Given the description of an element on the screen output the (x, y) to click on. 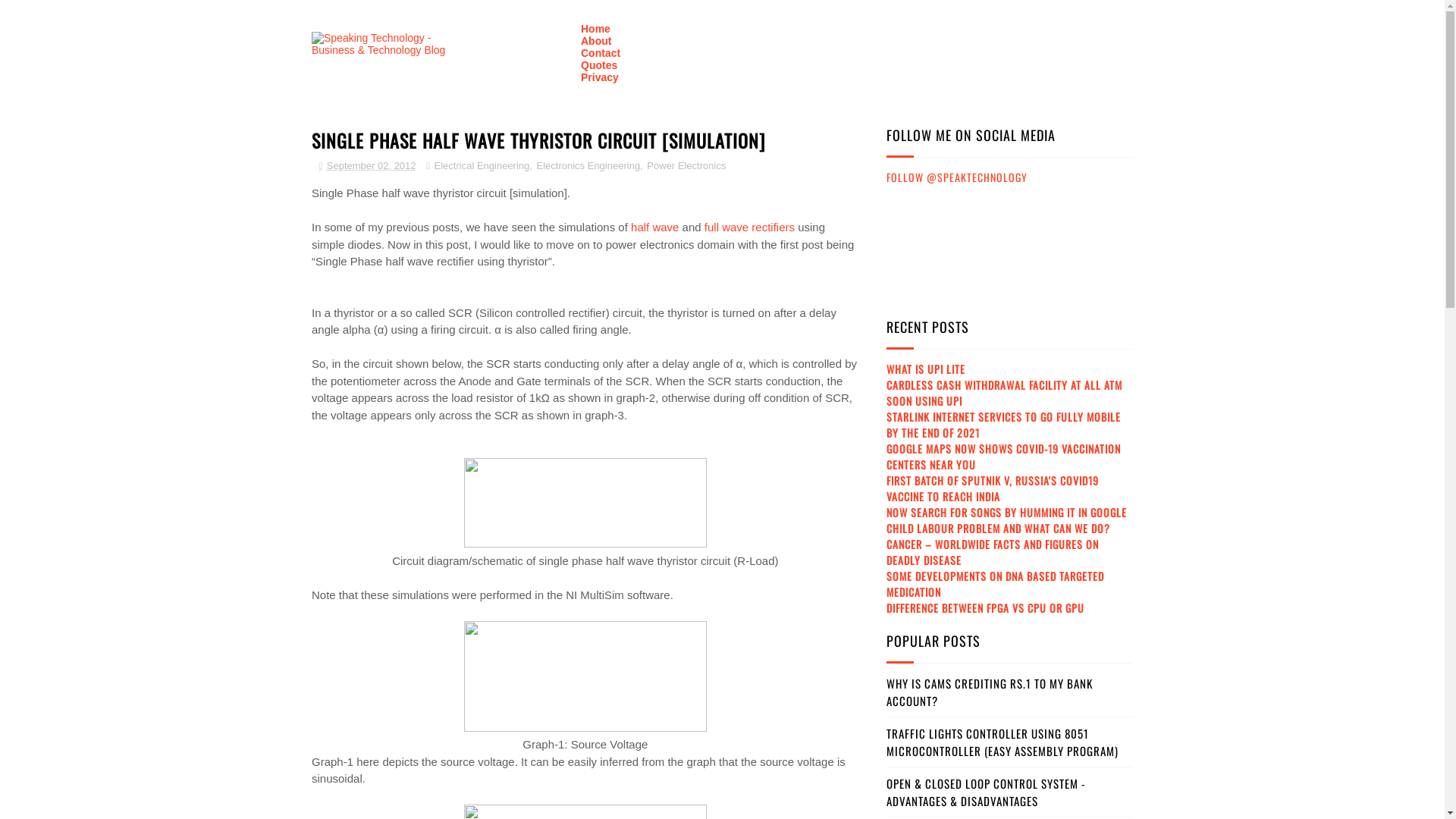
CARDLESS CASH WITHDRAWAL FACILITY AT ALL ATM SOON USING UPI Element type: text (1004, 392)
About Element type: text (595, 40)
NOW SEARCH FOR SONGS BY HUMMING IT IN GOOGLE Element type: text (1006, 512)
Privacy Element type: text (599, 77)
SOME DEVELOPMENTS ON DNA BASED TARGETED MEDICATION Element type: text (995, 583)
DIFFERENCE BETWEEN FPGA VS CPU OR GPU Element type: text (985, 607)
half wave Element type: text (654, 226)
Power Electronics Element type: text (685, 165)
FOLLOW @SPEAKTECHNOLOGY Element type: text (956, 177)
Electrical Engineering Element type: text (481, 165)
WHY IS CAMS CREDITING RS.1 TO MY BANK ACCOUNT? Element type: text (989, 691)
GOOGLE MAPS NOW SHOWS COVID-19 VACCINATION CENTERS NEAR YOU Element type: text (1003, 456)
full wave rectifiers Element type: text (749, 226)
September 02, 2012 Element type: text (367, 165)
CHILD LABOUR PROBLEM AND WHAT CAN WE DO? Element type: text (998, 528)
Quotes Element type: text (598, 65)
Home Element type: text (595, 28)
Electronics Engineering Element type: text (587, 165)
Contact Element type: text (600, 53)
WHAT IS UPI LITE Element type: text (925, 368)
